Given the description of an element on the screen output the (x, y) to click on. 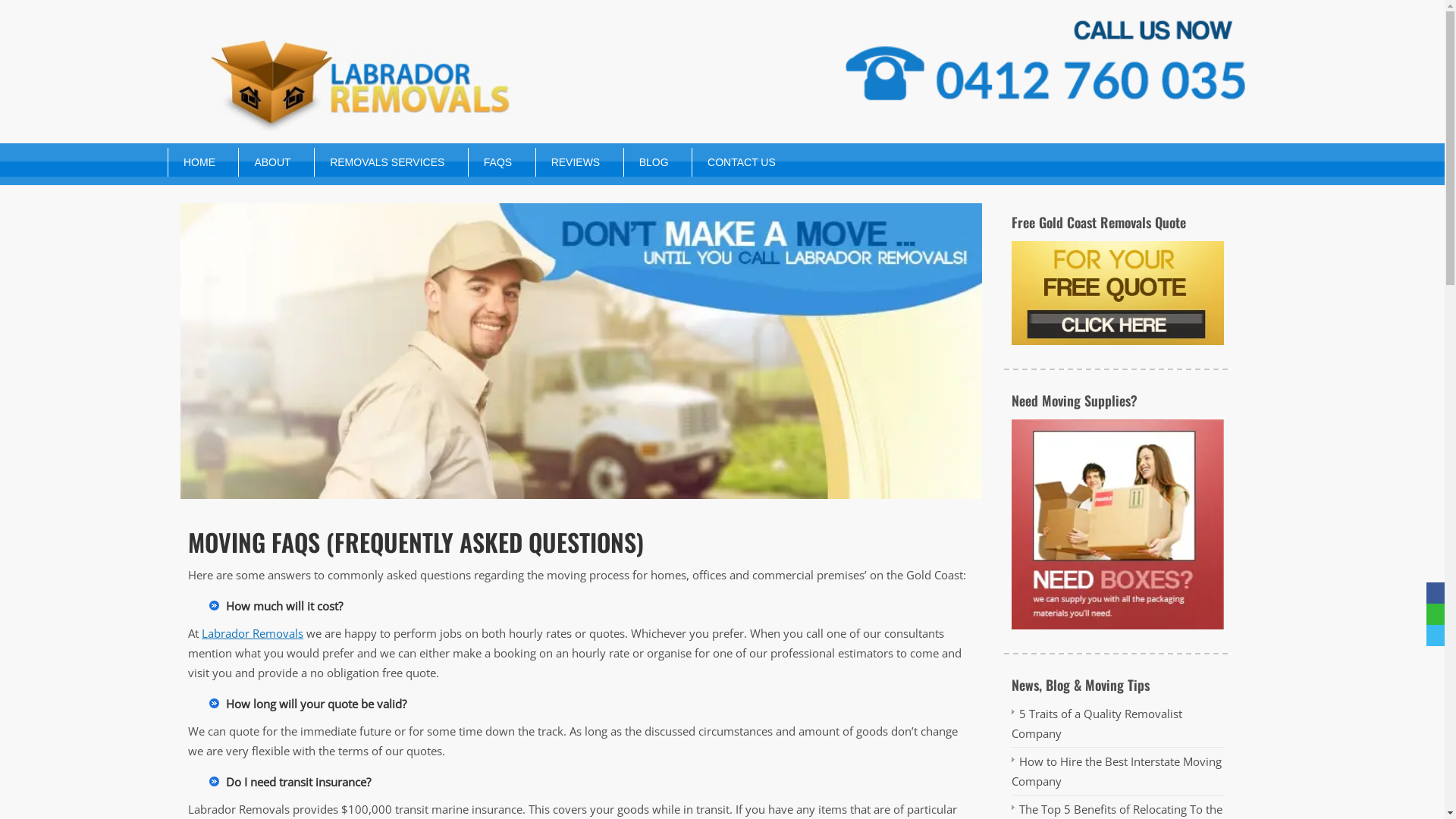
How to Hire the Best Interstate Moving Company Element type: text (1116, 770)
Gold Coast Movers - Labrador Removals - since 1989! Element type: hover (581, 351)
ABOUT Element type: text (264, 161)
FAQS Element type: text (489, 161)
CONTACT US Element type: text (733, 161)
5 Traits of a Quality Removalist Company Element type: text (1096, 722)
REVIEWS Element type: text (568, 161)
BLOG Element type: text (646, 161)
HOME Element type: text (191, 161)
Gold Coast removals supplies - Labrador Removals Element type: hover (1117, 523)
Labrador Removals Element type: text (252, 632)
